Given the description of an element on the screen output the (x, y) to click on. 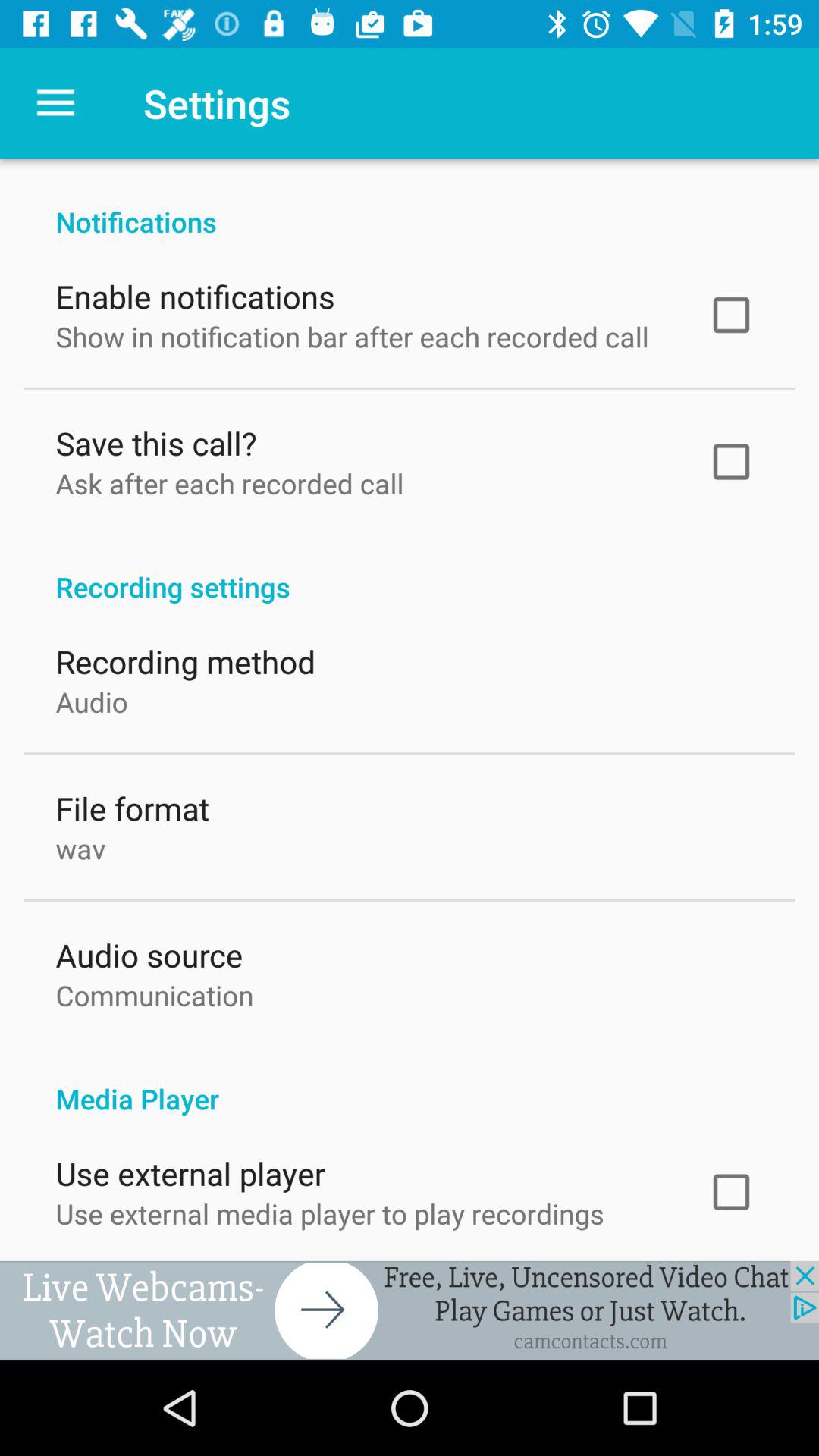
swipe until the file format icon (132, 804)
